Given the description of an element on the screen output the (x, y) to click on. 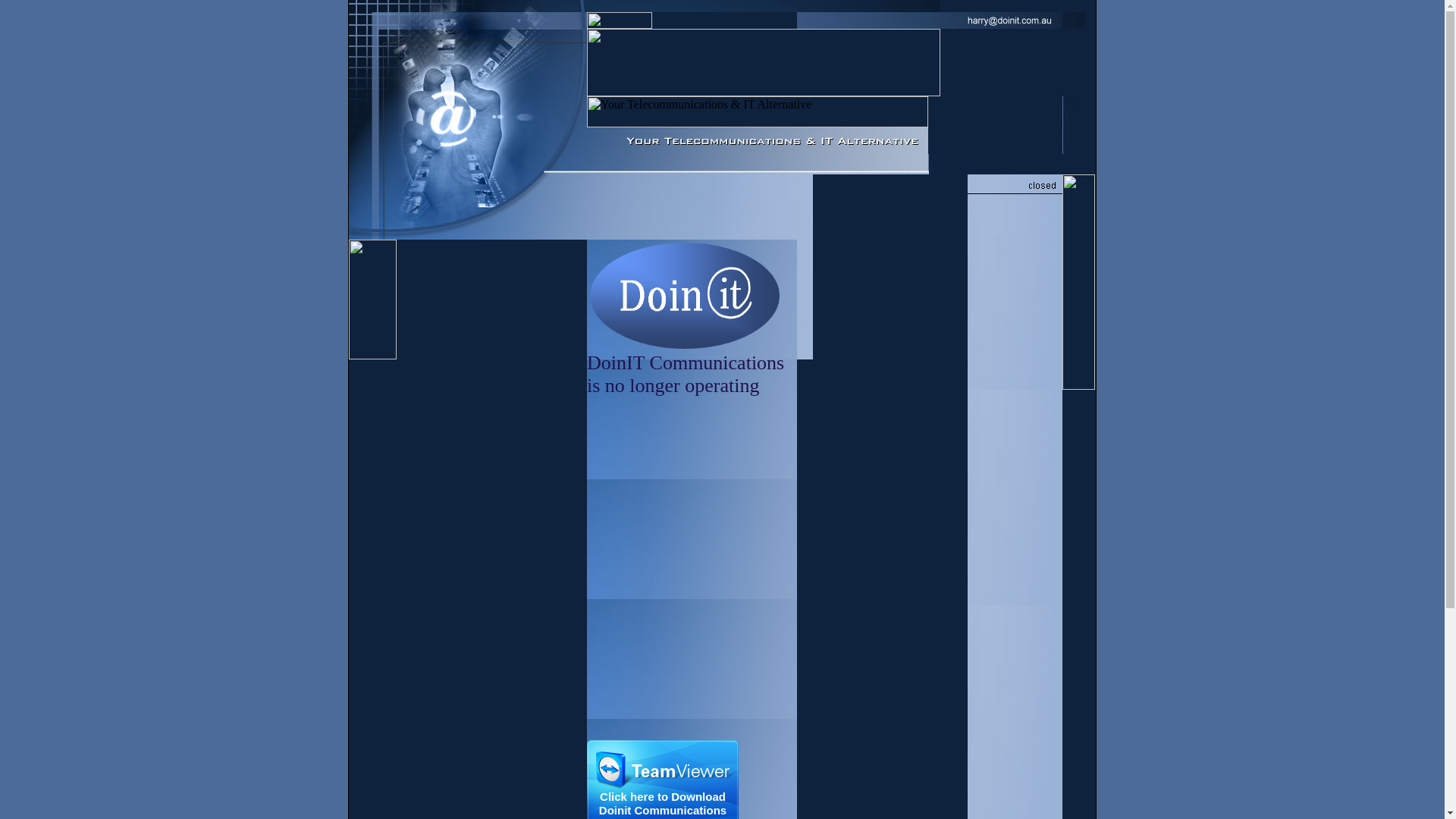
Your Telecommunications & IT Alternative Element type: hover (757, 140)
harry@doinit.com.au Element type: hover (929, 20)
New_Logo_Only Element type: hover (684, 295)
Your Telecommunications & IT Alternative Element type: hover (757, 111)
closed Element type: hover (1014, 184)
